Given the description of an element on the screen output the (x, y) to click on. 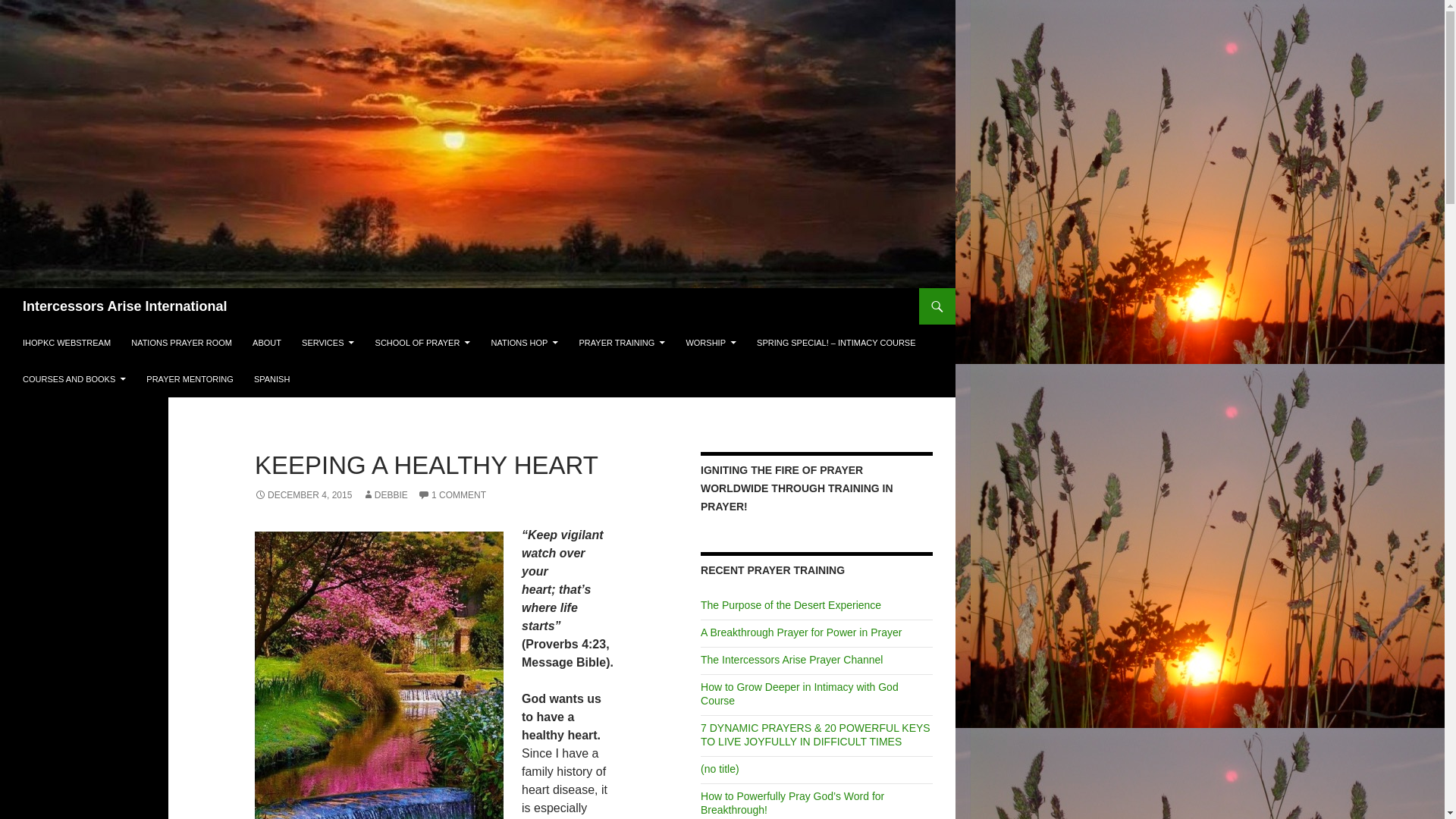
NATIONS PRAYER ROOM (181, 342)
IHOPKC WEBSTREAM (66, 342)
PRAYER TRAINING (622, 342)
SCHOOL OF PRAYER (423, 342)
ABOUT (266, 342)
NATIONS HOP (524, 342)
Intercessors Arise International (125, 306)
SERVICES (327, 342)
